Given the description of an element on the screen output the (x, y) to click on. 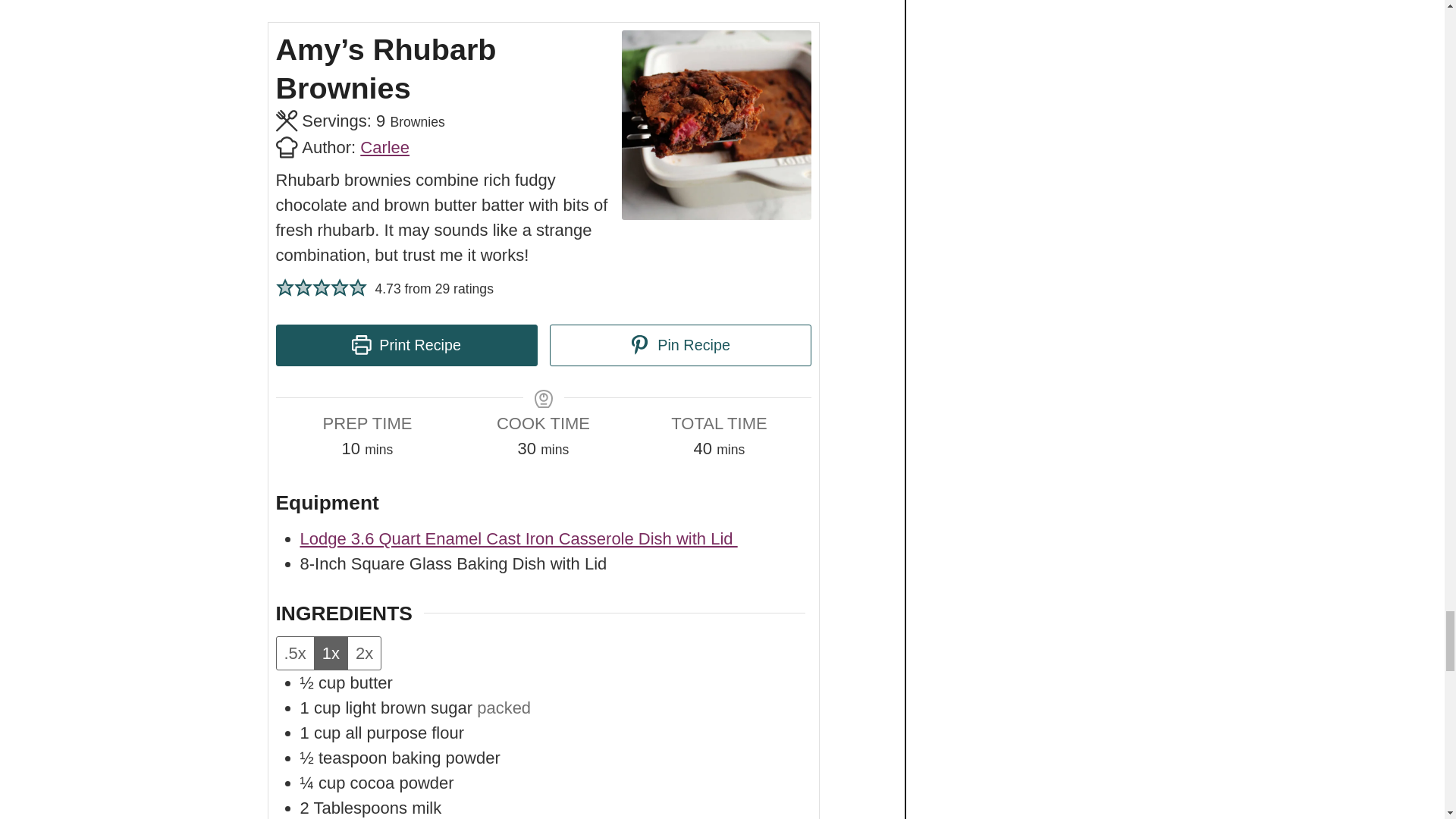
Lodge 3.6 Quart Enamel Cast Iron Casserole Dish with Lid  (518, 538)
Pin Recipe (679, 345)
Print Recipe (406, 345)
Rhubarb Brownies 9 (715, 125)
Carlee (384, 147)
